Given the description of an element on the screen output the (x, y) to click on. 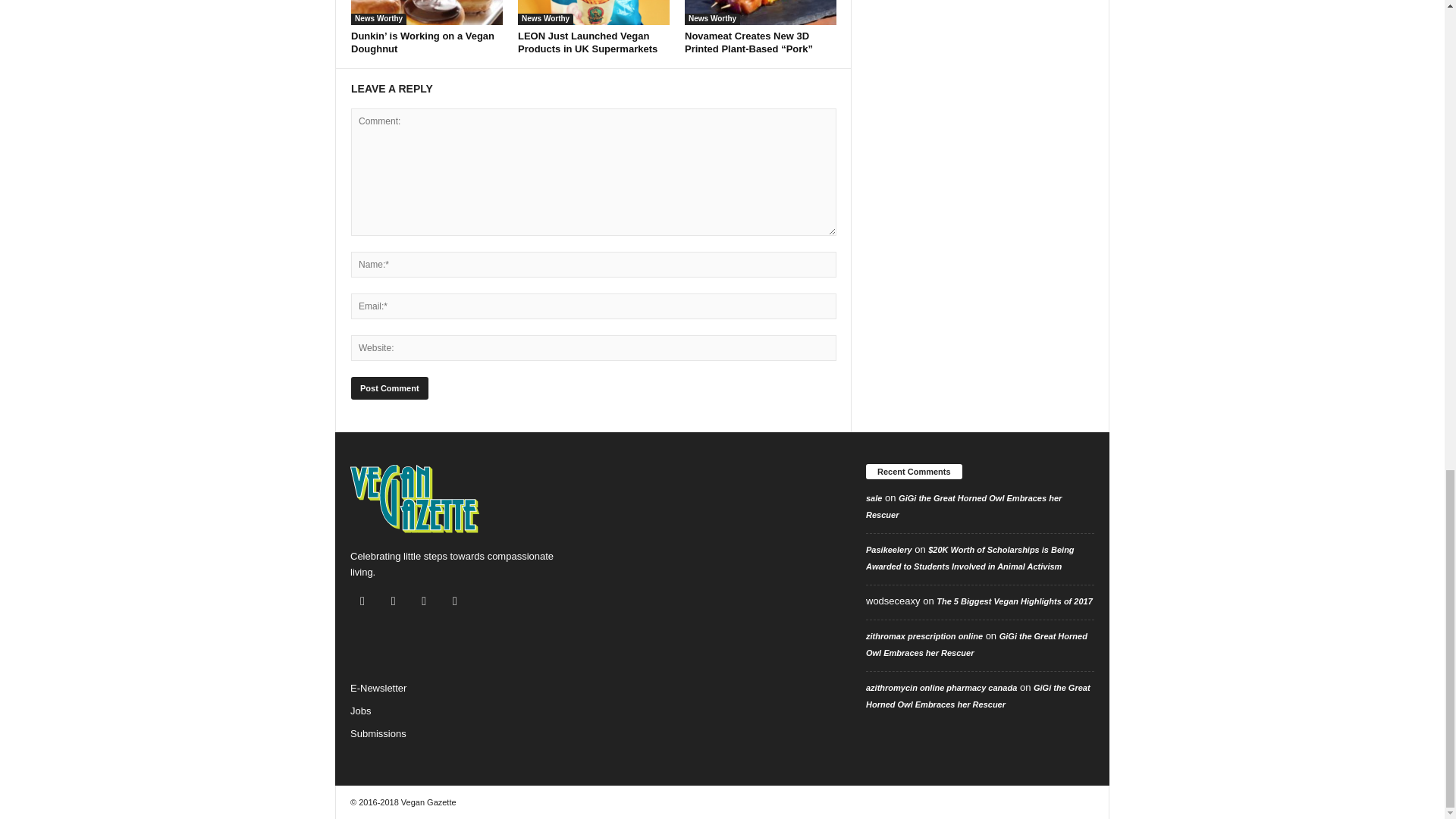
LEON Just Launched Vegan Products in UK Supermarkets (593, 12)
Post Comment (389, 387)
LEON Just Launched Vegan Products in UK Supermarkets (588, 42)
